Given the description of an element on the screen output the (x, y) to click on. 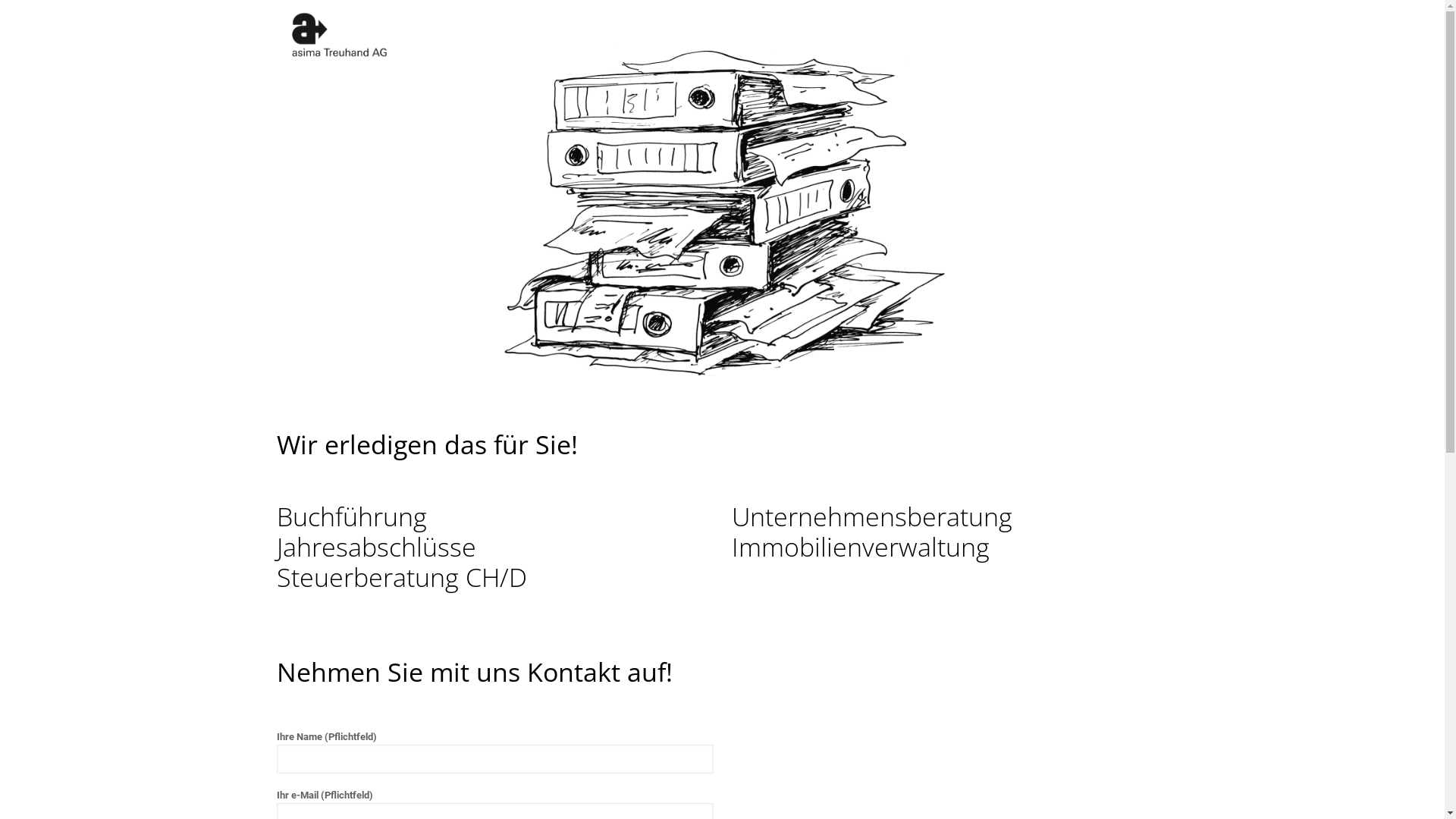
Asima_Illustration Element type: hover (721, 203)
Asima Treuhand AG Element type: hover (338, 34)
